Given the description of an element on the screen output the (x, y) to click on. 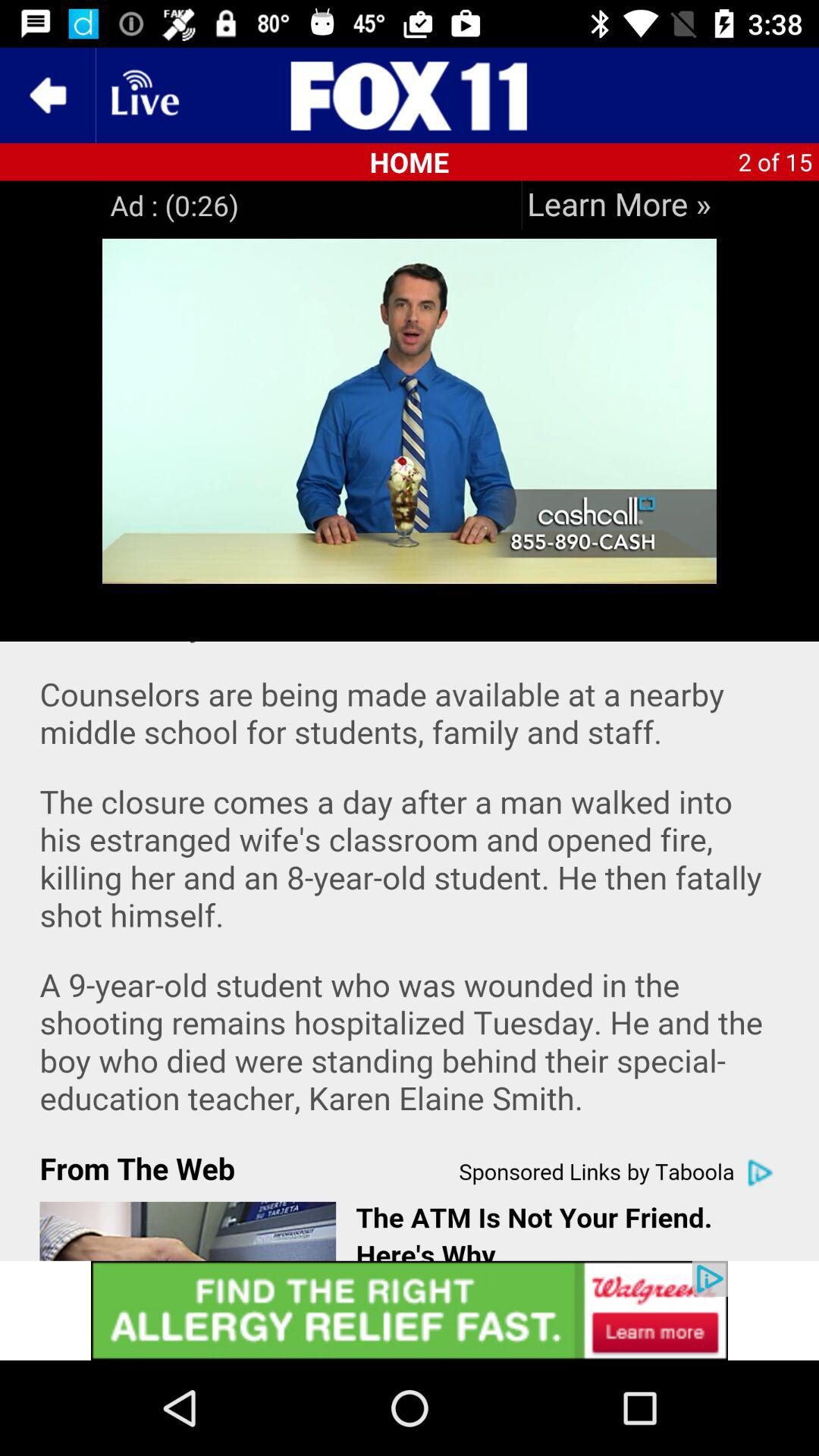
app brand (409, 95)
